Given the description of an element on the screen output the (x, y) to click on. 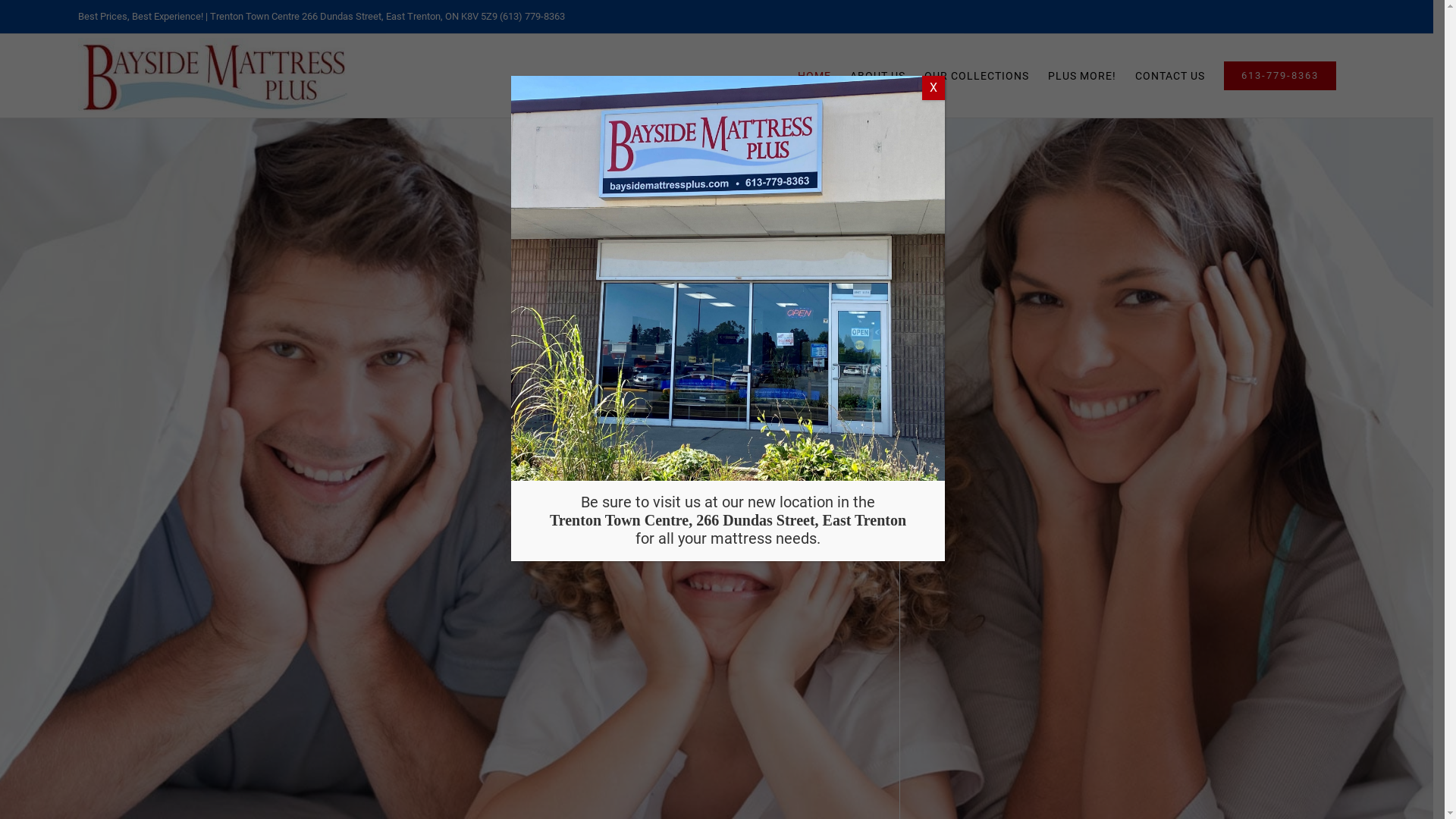
X Element type: text (933, 87)
PLUS MORE! Element type: text (1082, 75)
HOME Element type: text (814, 75)
OUR COLLECTIONS Element type: text (976, 75)
613-779-8363 Element type: text (1279, 75)
CONTACT US Element type: text (1169, 75)
ABOUT US Element type: text (877, 75)
